Given the description of an element on the screen output the (x, y) to click on. 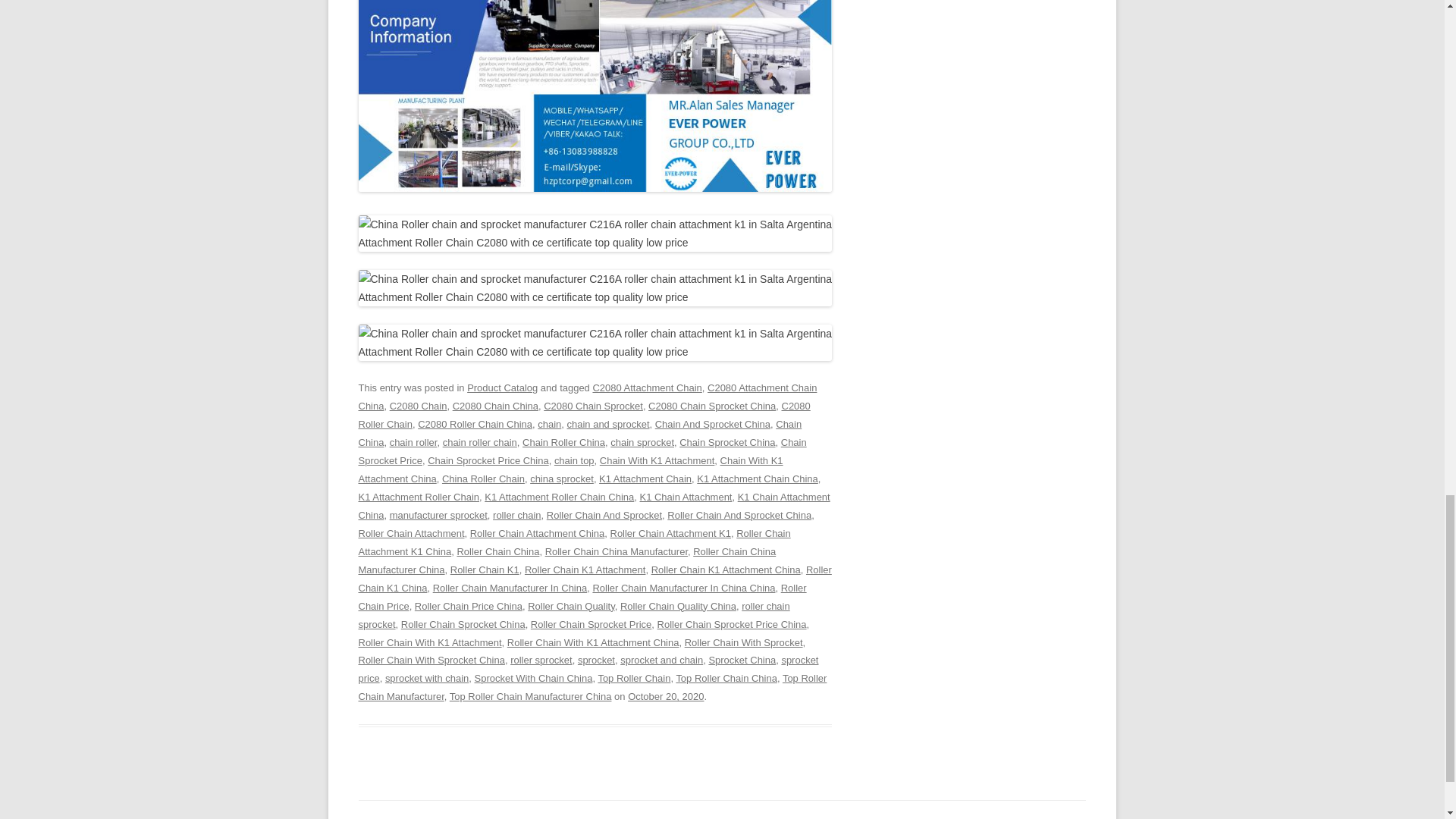
chain (548, 423)
manufacturer sprocket (438, 514)
chain top (574, 460)
K1 Chain Attachment China (593, 505)
K1 Attachment Chain (644, 478)
roller chain (517, 514)
C2080 Attachment Chain (646, 387)
Chain Sprocket Price China (488, 460)
Product Catalog (502, 387)
chain and sprocket (608, 423)
